Given the description of an element on the screen output the (x, y) to click on. 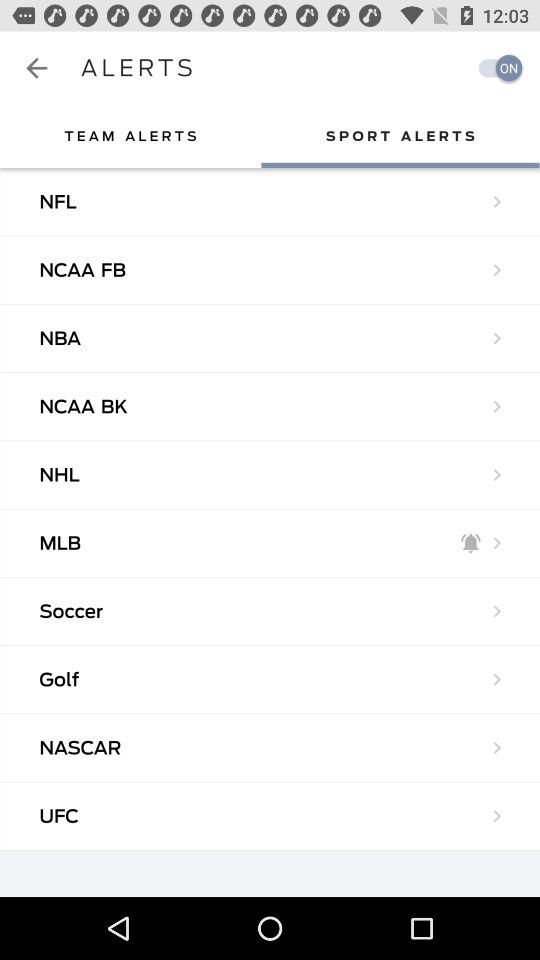
turn on alerts (495, 67)
